Given the description of an element on the screen output the (x, y) to click on. 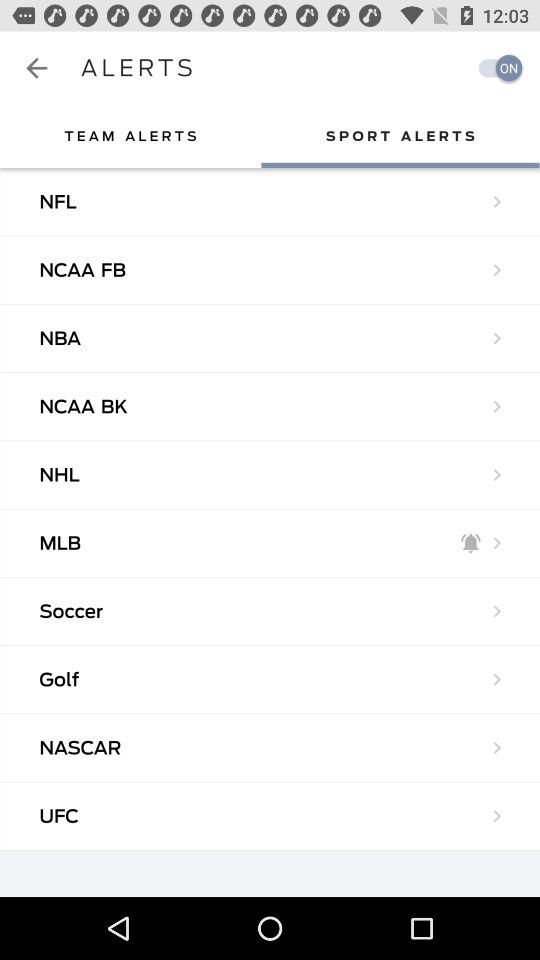
turn on alerts (495, 67)
